Given the description of an element on the screen output the (x, y) to click on. 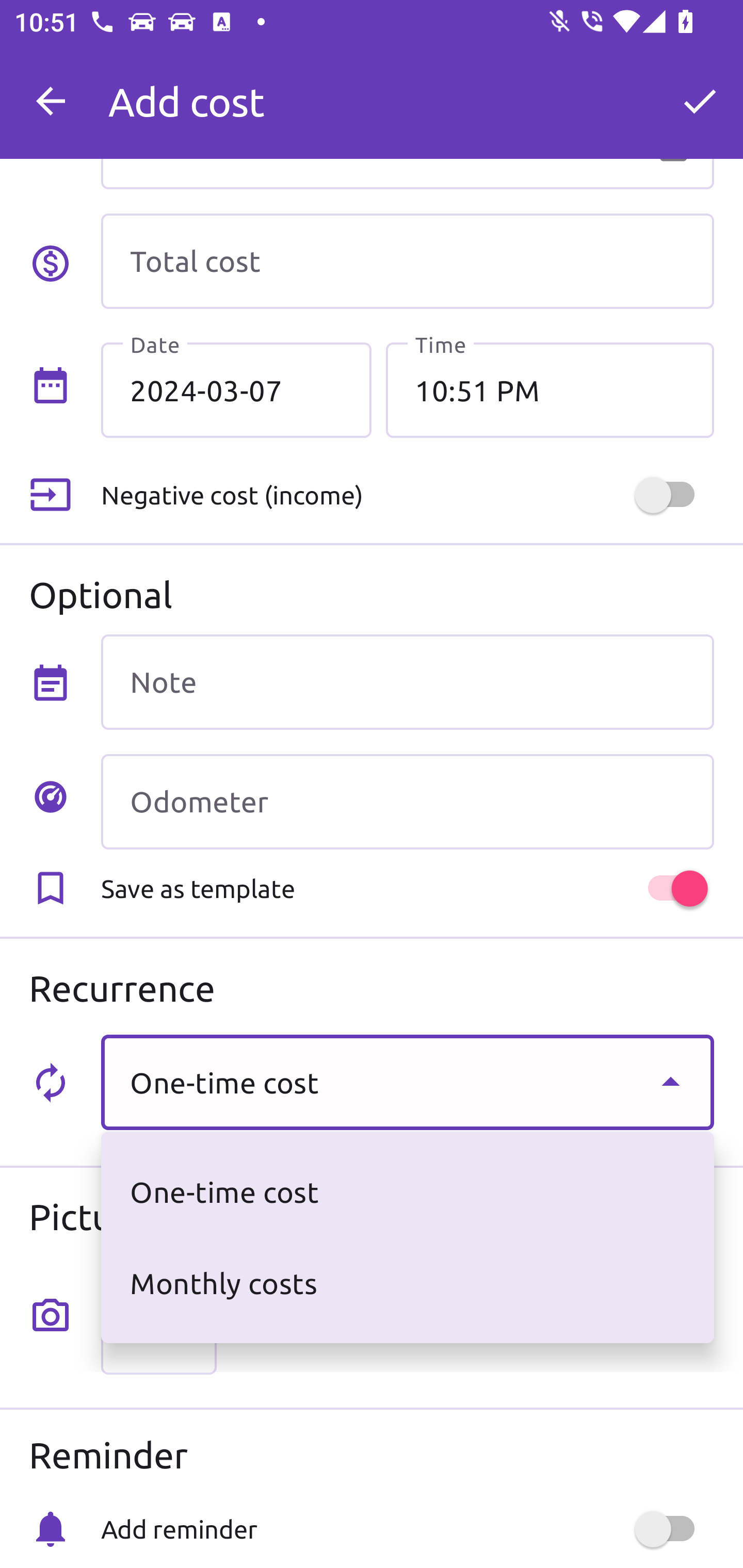
M My Car 0 km (407, 92)
Navigate up (50, 101)
OK (699, 101)
Total cost  (407, 260)
2024-03-07 (236, 389)
10:51 PM (549, 389)
Negative cost (income) (407, 494)
Note (407, 682)
Odometer (407, 801)
Save as template (407, 887)
One-time cost (407, 1082)
Show dropdown menu (670, 1081)
Add reminder (407, 1529)
